Given the description of an element on the screen output the (x, y) to click on. 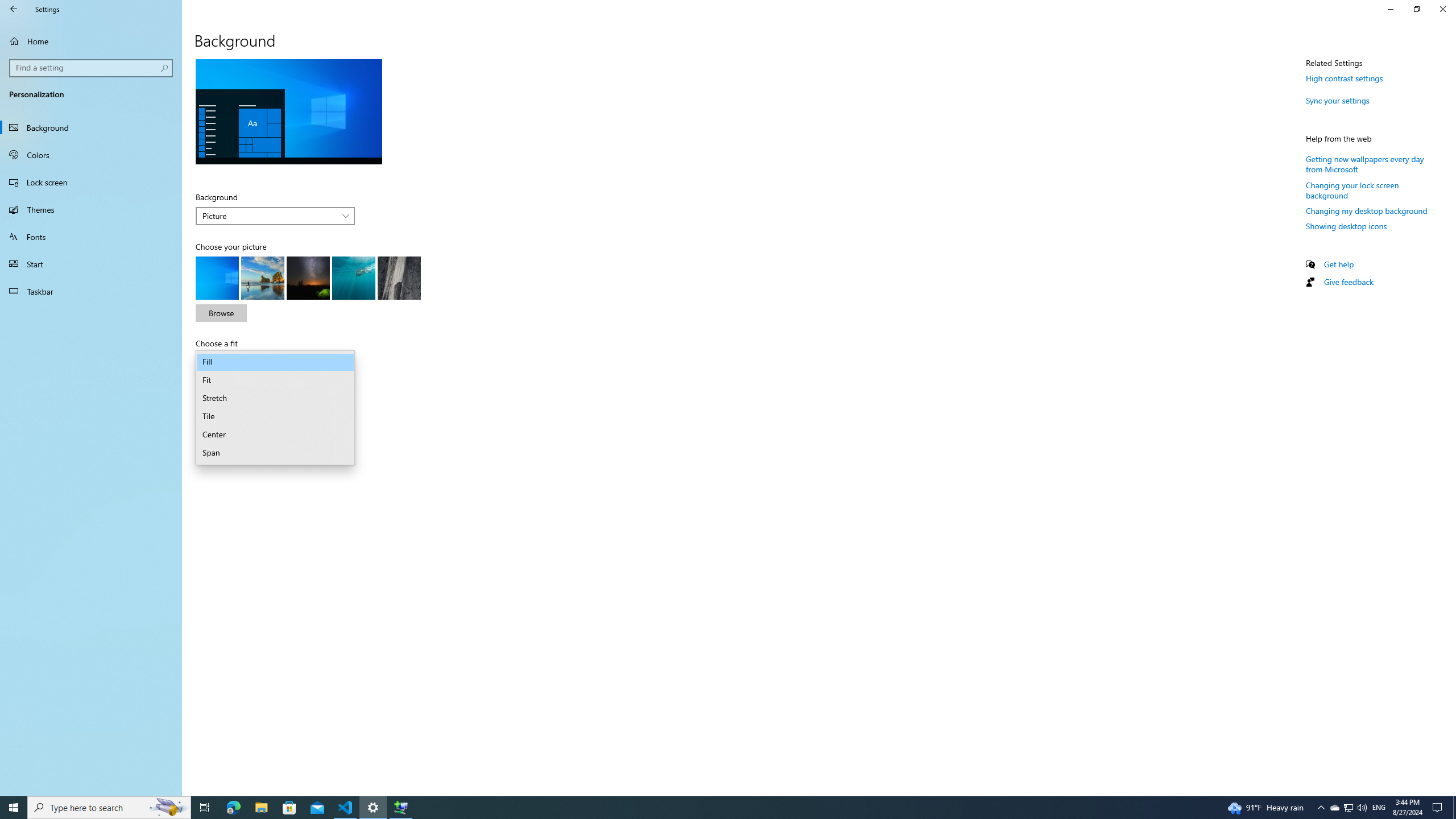
Taskbar (91, 290)
Span (274, 452)
Sync your settings (1338, 100)
Stretch (274, 398)
High contrast settings (1344, 77)
Action Center, No new notifications (1439, 807)
Themes (91, 208)
File Explorer (261, 807)
Tile (274, 416)
